Given the description of an element on the screen output the (x, y) to click on. 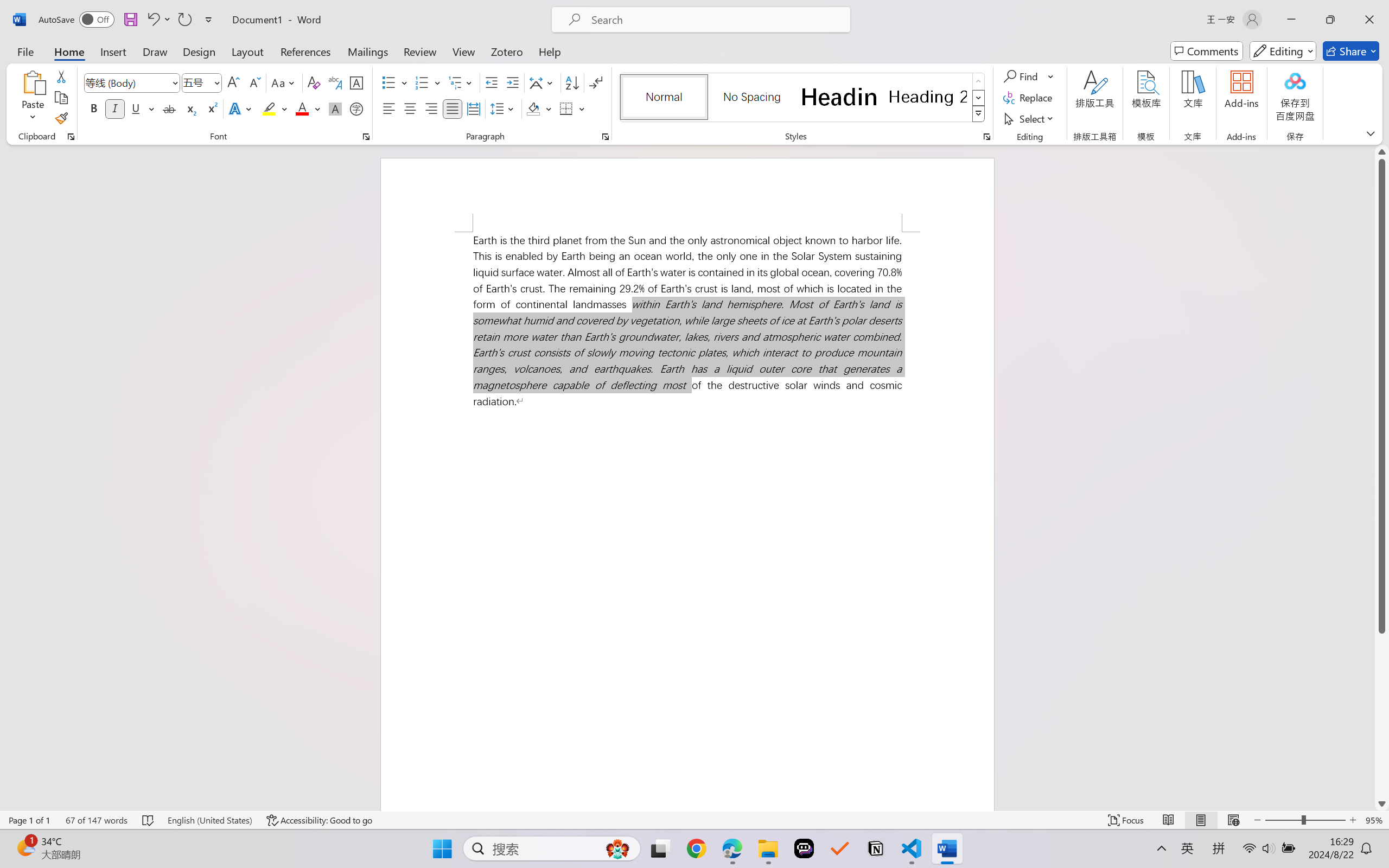
Enclose Characters... (356, 108)
Shading RGB(0, 0, 0) (533, 108)
Sort... (571, 82)
Superscript (210, 108)
Line down (1382, 803)
Heading 1 (839, 96)
